Given the description of an element on the screen output the (x, y) to click on. 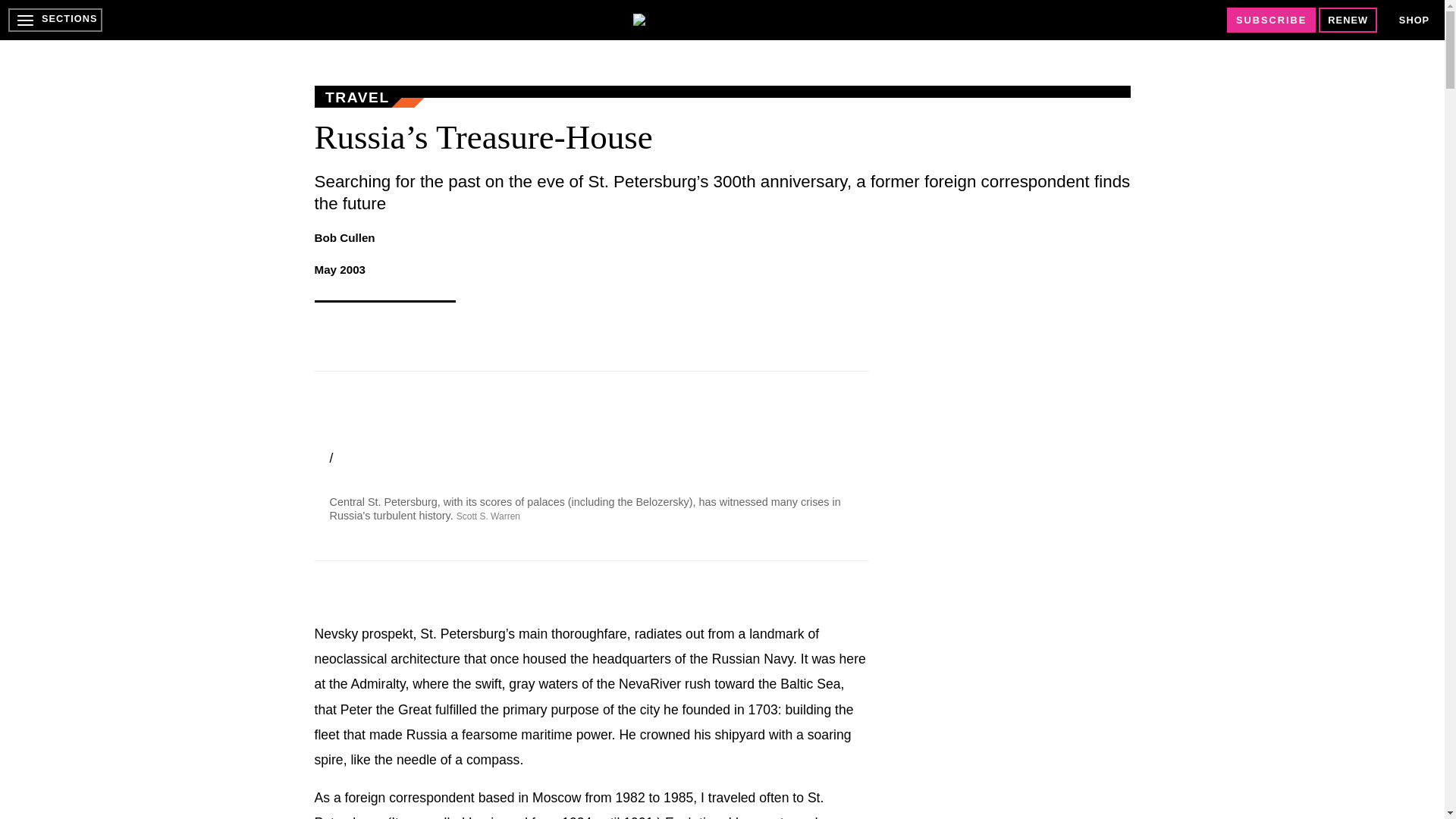
RENEW (1347, 19)
SUBSCRIBE (1271, 19)
SECTIONS (55, 19)
Next (847, 485)
SHOP (1414, 19)
RENEW (1348, 19)
SUBSCRIBE (1271, 19)
SHOP (1413, 19)
